Given the description of an element on the screen output the (x, y) to click on. 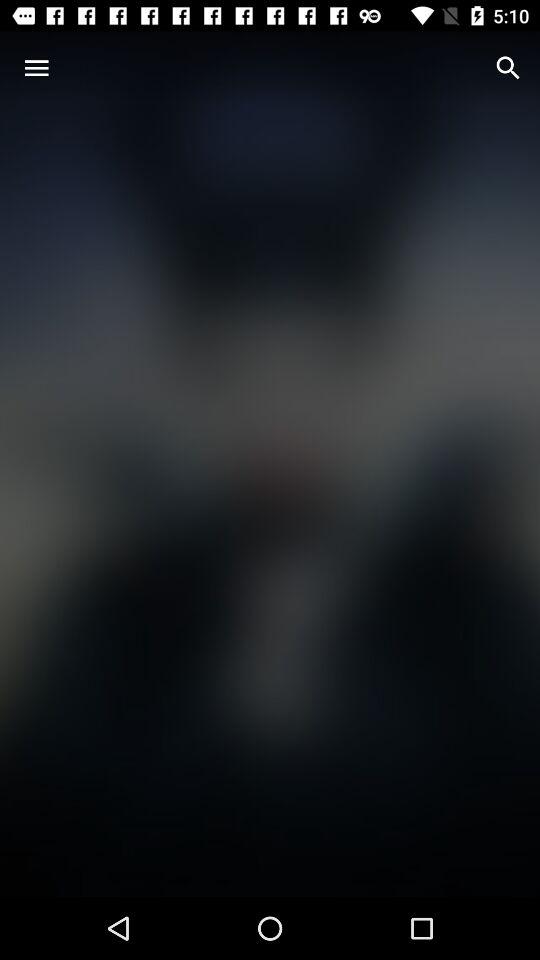
tap the item at the top right corner (508, 67)
